Given the description of an element on the screen output the (x, y) to click on. 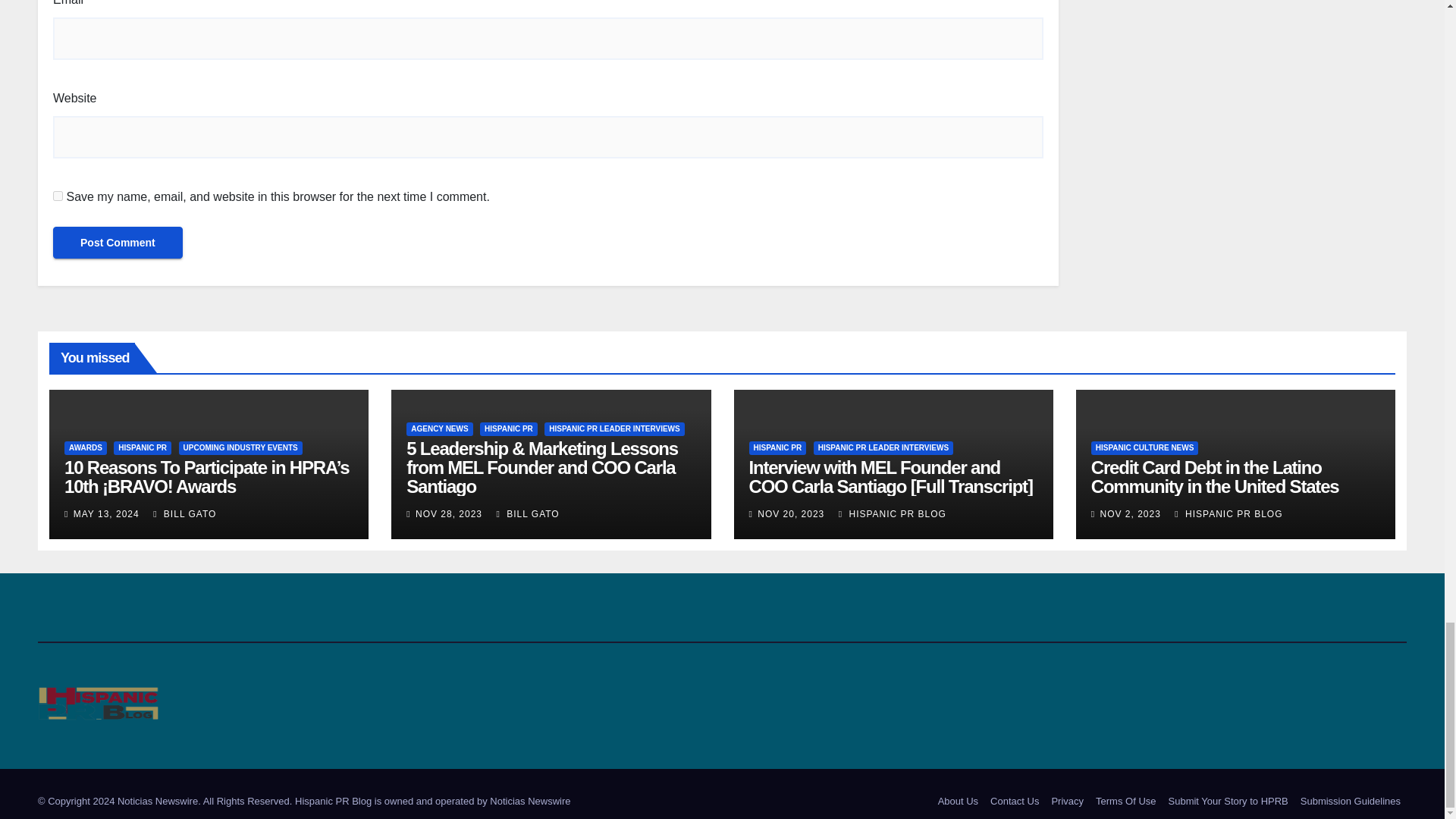
Post Comment (117, 242)
yes (57, 195)
